Given the description of an element on the screen output the (x, y) to click on. 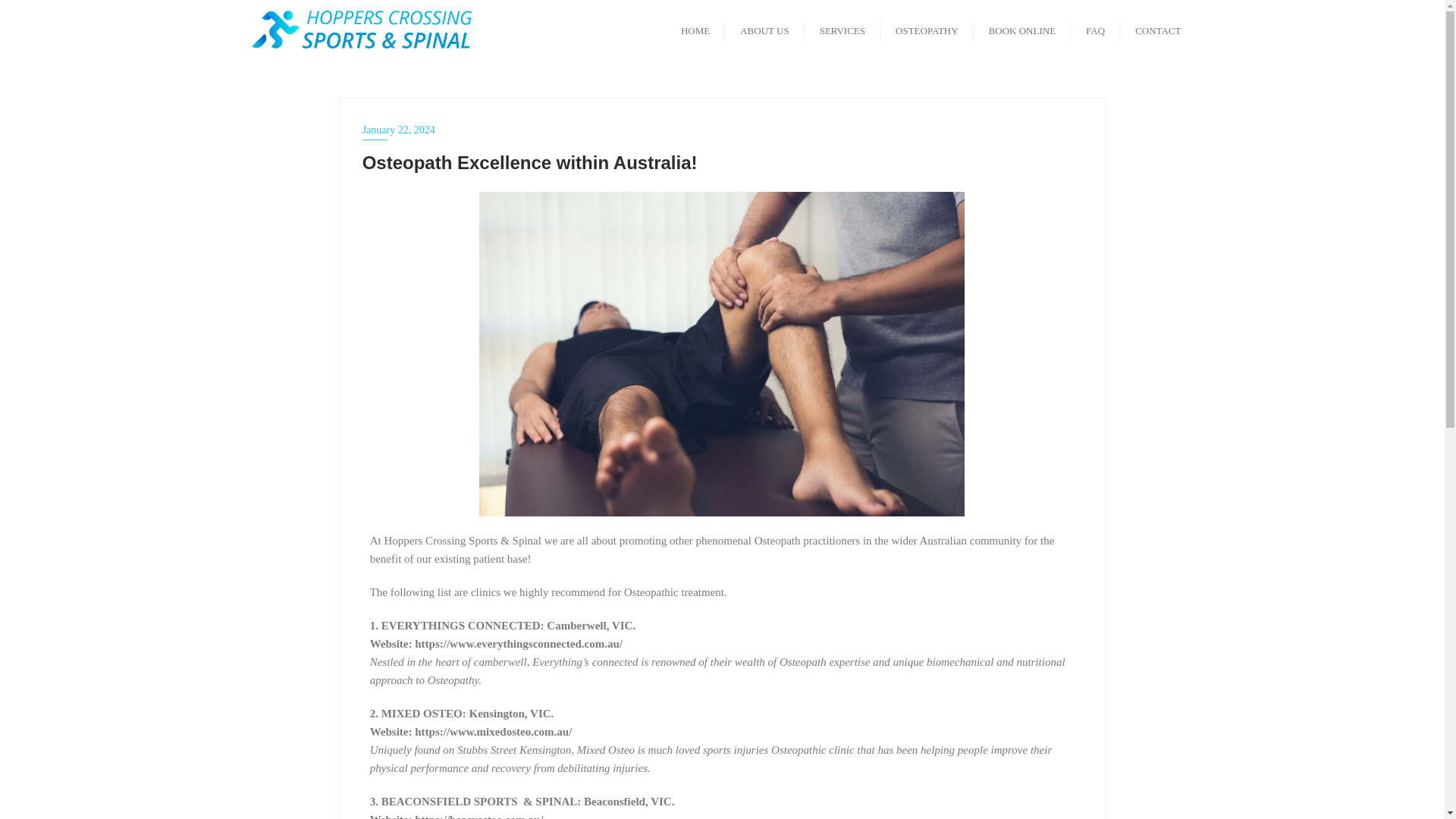
OSTEOPATHY (927, 29)
FAQ (1094, 29)
CONTACT (1157, 29)
HOME (695, 29)
ABOUT US (764, 29)
January 22, 2024 (722, 129)
SERVICES (842, 29)
BOOK ONLINE (1022, 29)
